Given the description of an element on the screen output the (x, y) to click on. 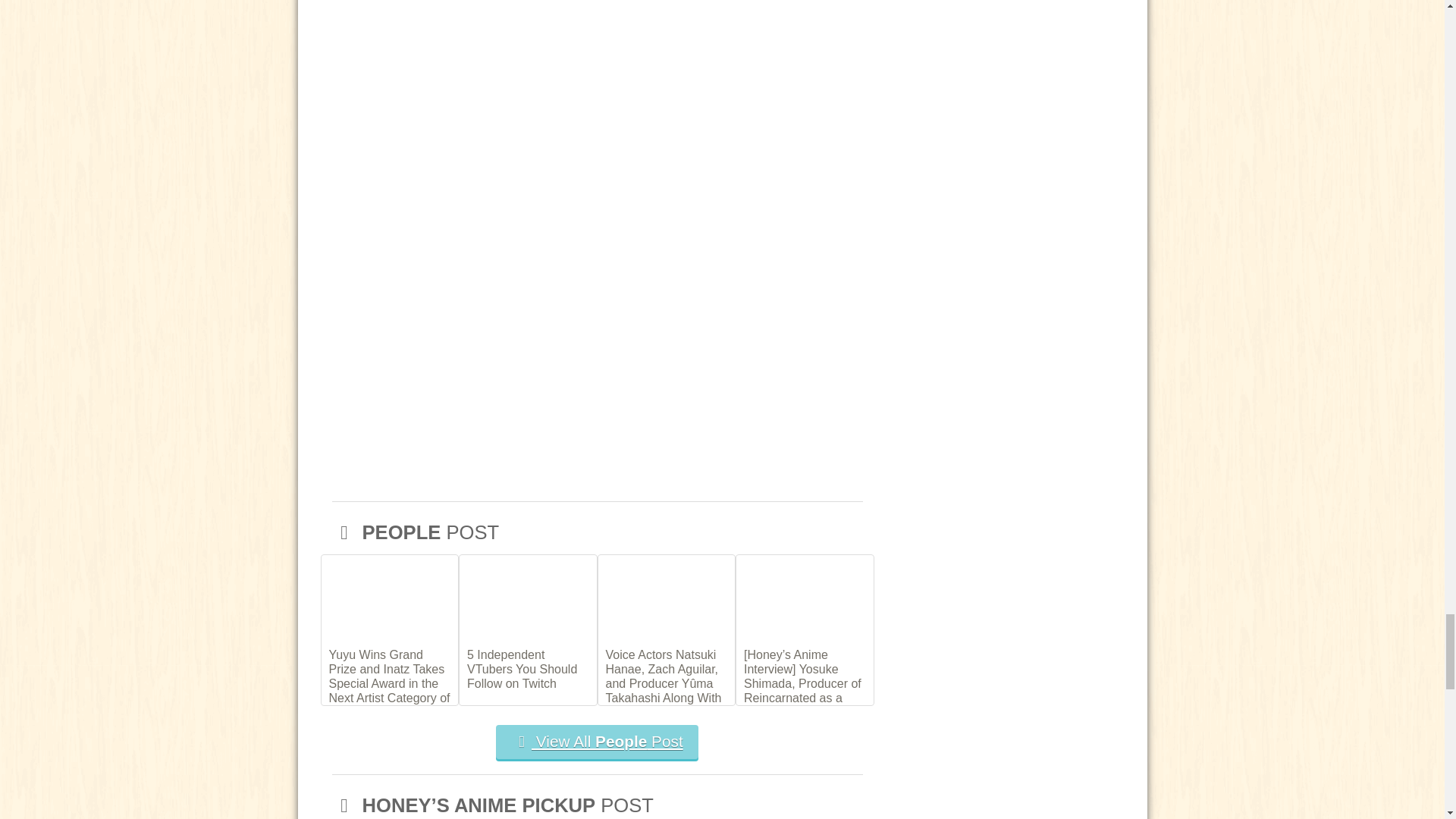
5 Independent VTubers You Should Follow on Twitch (528, 668)
View All People Post (596, 741)
